Given the description of an element on the screen output the (x, y) to click on. 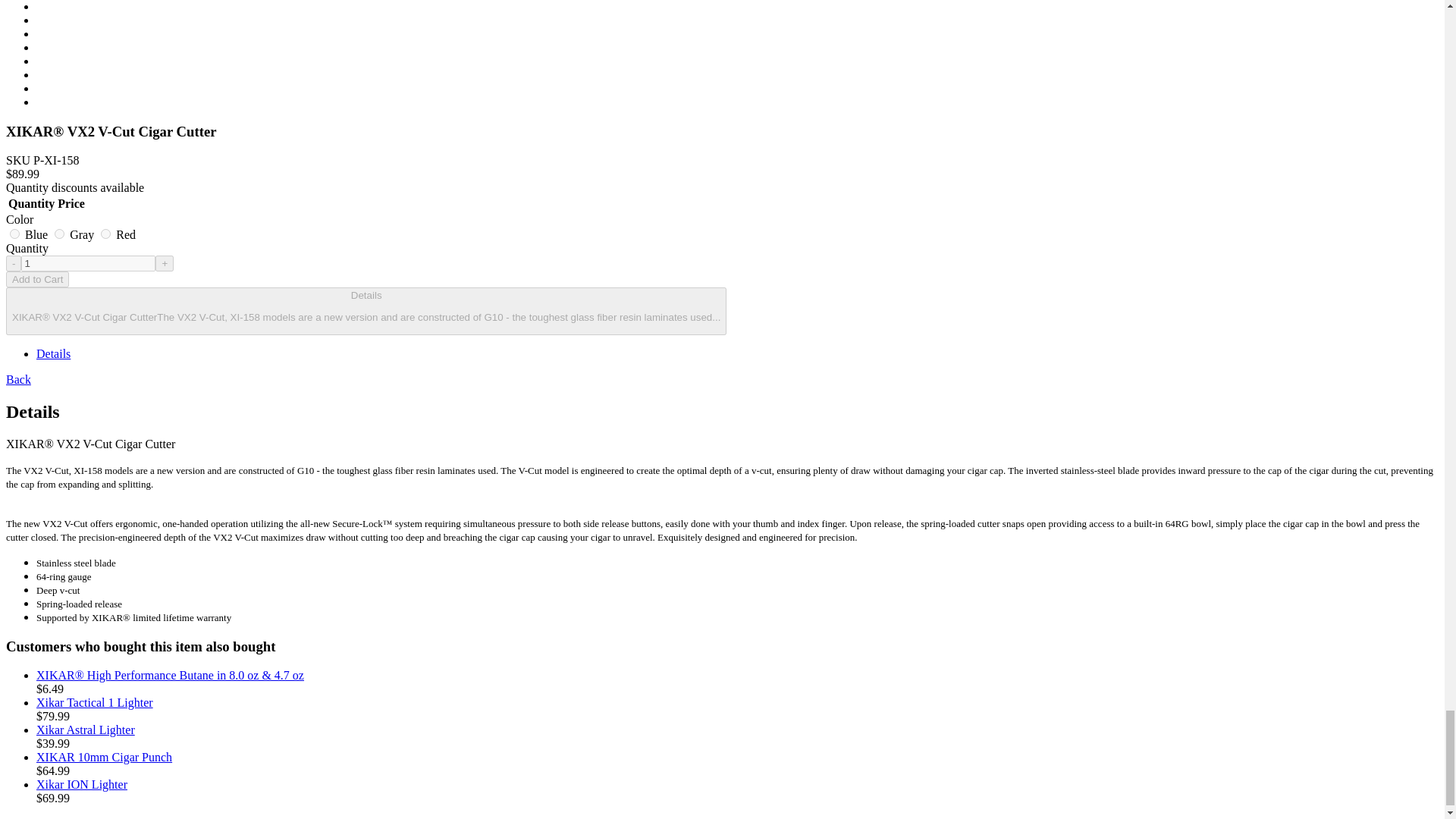
467 (59, 234)
2 (15, 234)
1 (88, 263)
8 (105, 234)
